Given the description of an element on the screen output the (x, y) to click on. 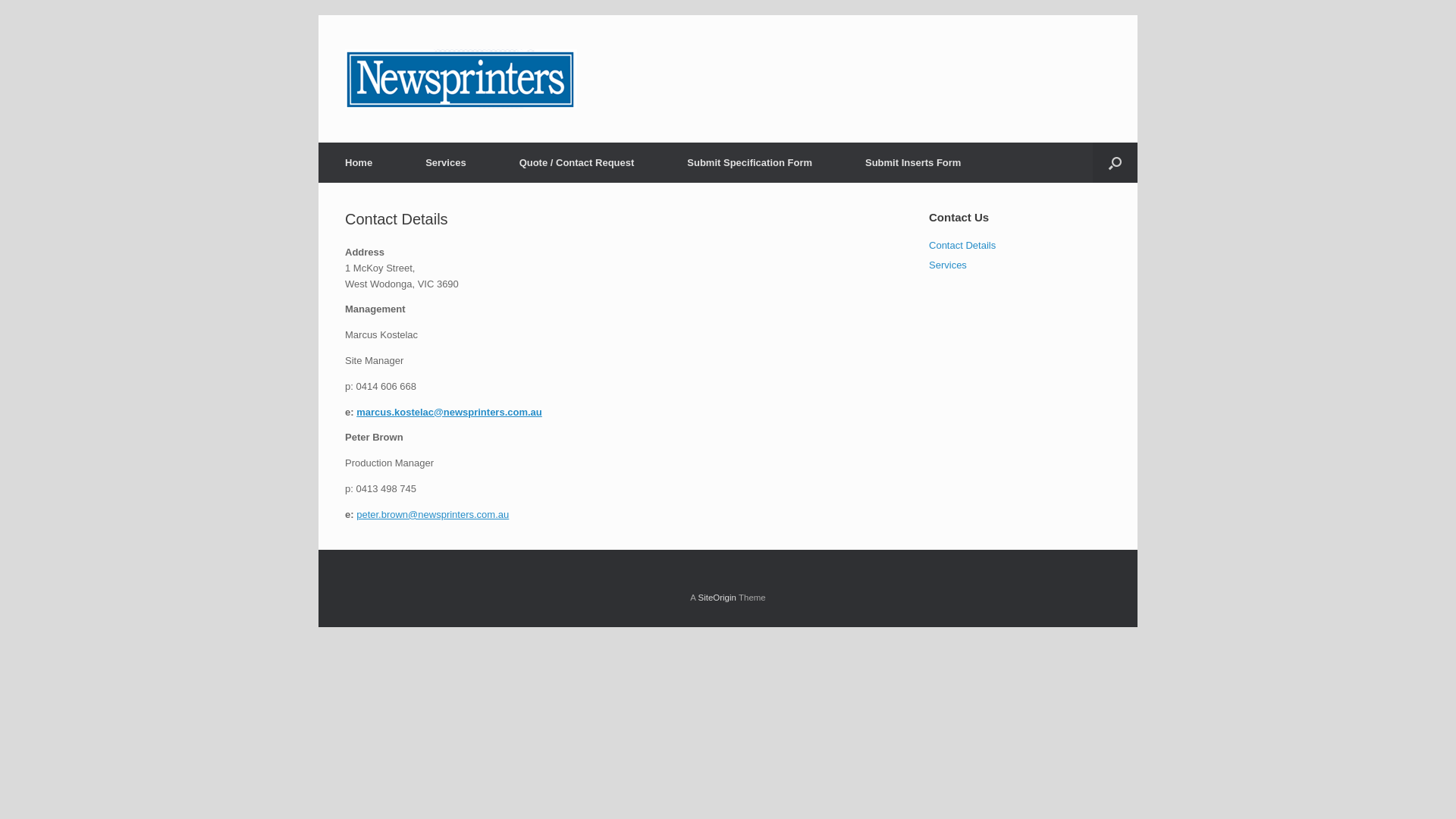
Submit Specification Form Element type: text (749, 162)
Submit Inserts Form Element type: text (912, 162)
peter.brown@newsprinters.com.au Element type: text (432, 514)
Quote / Contact Request Element type: text (576, 162)
SiteOrigin Element type: text (716, 597)
Contact Details Element type: text (961, 245)
Services Element type: text (445, 162)
Skip to content Element type: text (317, 14)
Home Element type: text (358, 162)
marcus.kostelac@newsprinters.com.au Element type: text (449, 411)
Newsprinters Element type: hover (461, 78)
Services Element type: text (947, 264)
